Given the description of an element on the screen output the (x, y) to click on. 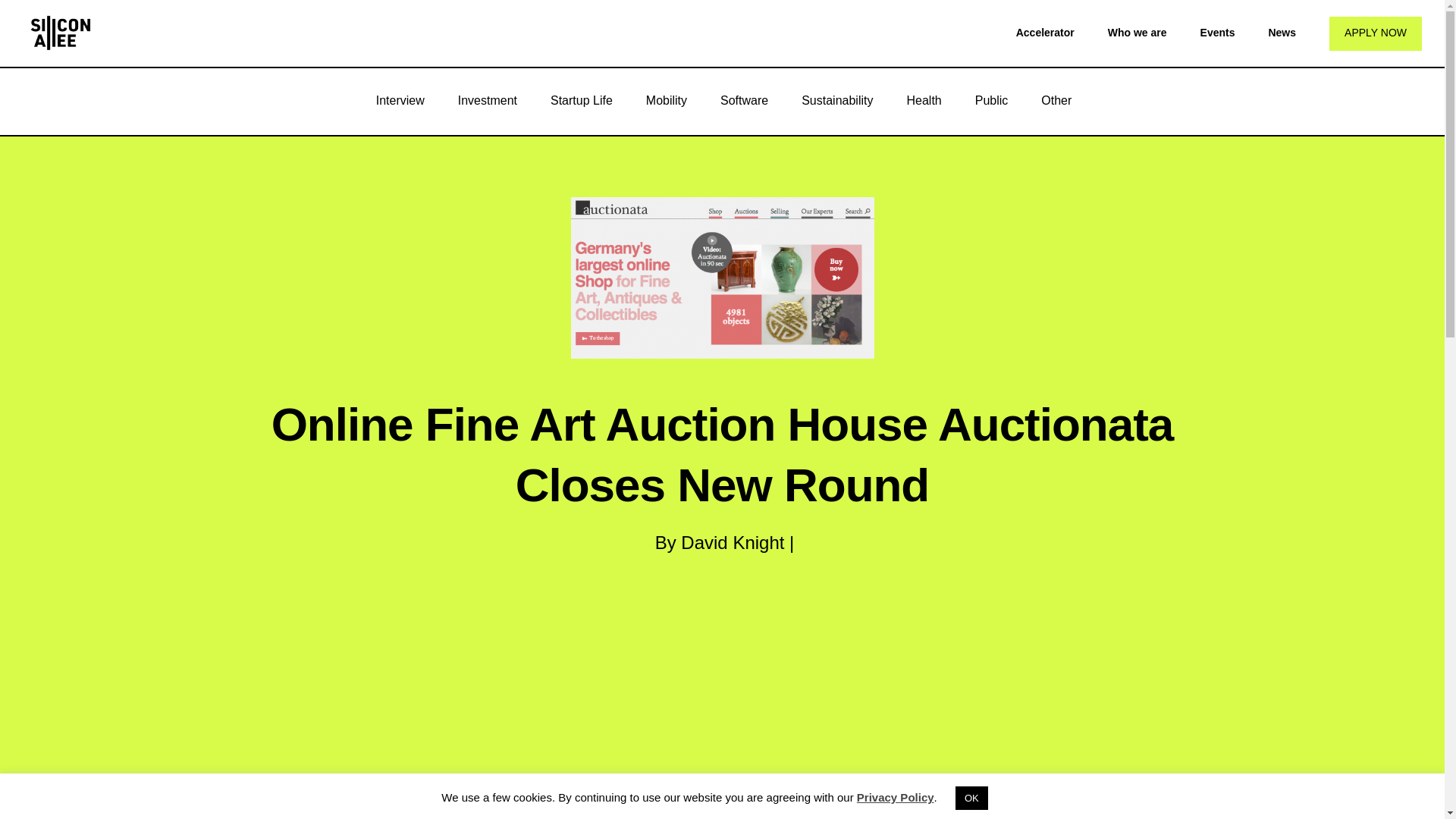
Mobility (665, 100)
Events (1216, 31)
Startup Life (581, 100)
Health (923, 100)
Investment (487, 100)
Interview (400, 100)
Accelerator (1045, 31)
Other (1056, 100)
Software (743, 100)
Who we are (1137, 31)
